Given the description of an element on the screen output the (x, y) to click on. 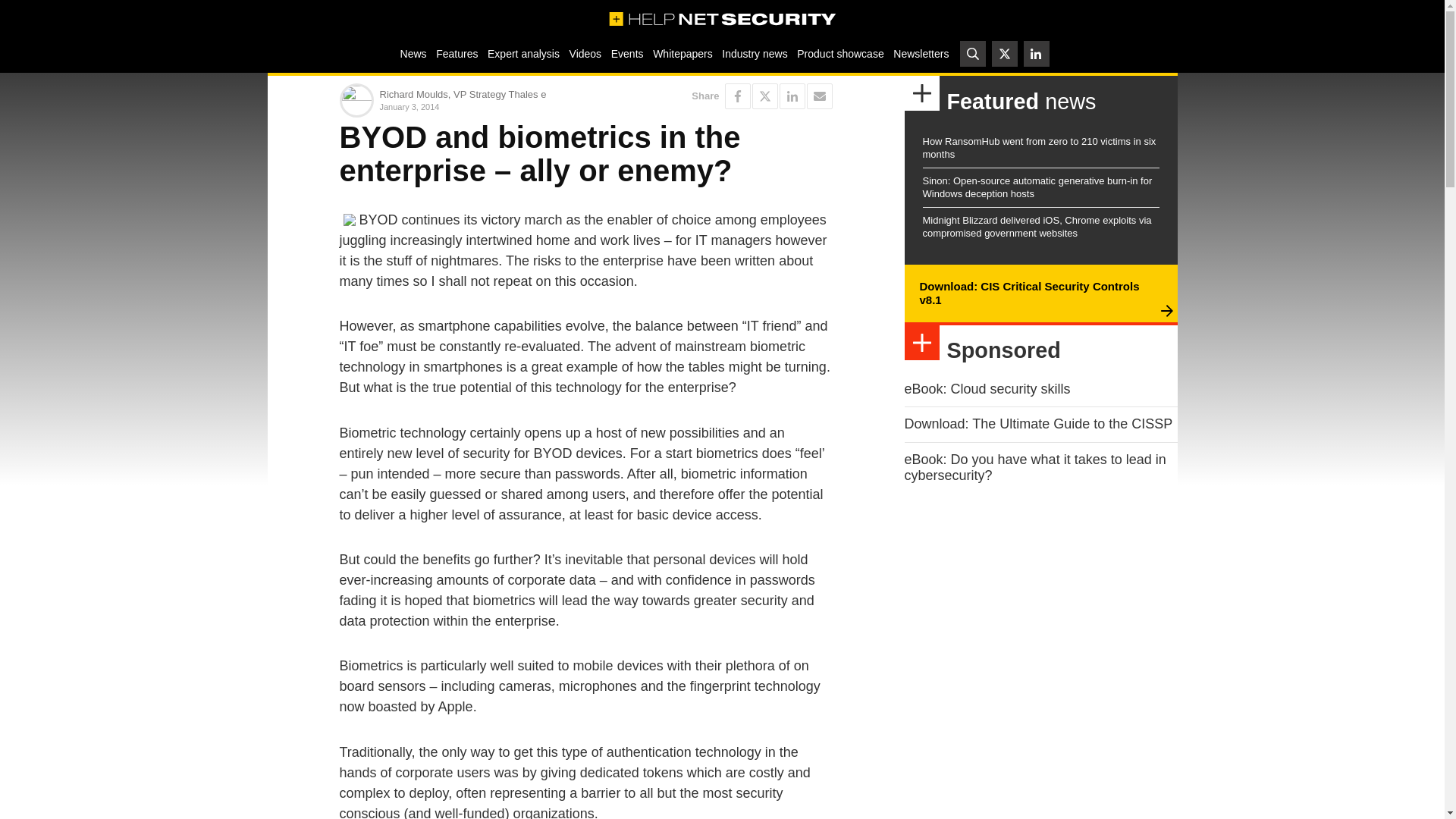
January 3, 2014 (478, 106)
Newsletters (920, 53)
Expert analysis (523, 53)
How RansomHub went from zero to 210 victims in six months (1038, 147)
How RansomHub went from zero to 210 victims in six months (1038, 147)
Product showcase (840, 53)
Download: CIS Critical Security Controls v8.1 (1028, 293)
eBook: Do you have what it takes to lead in cybersecurity? (1035, 468)
